Given the description of an element on the screen output the (x, y) to click on. 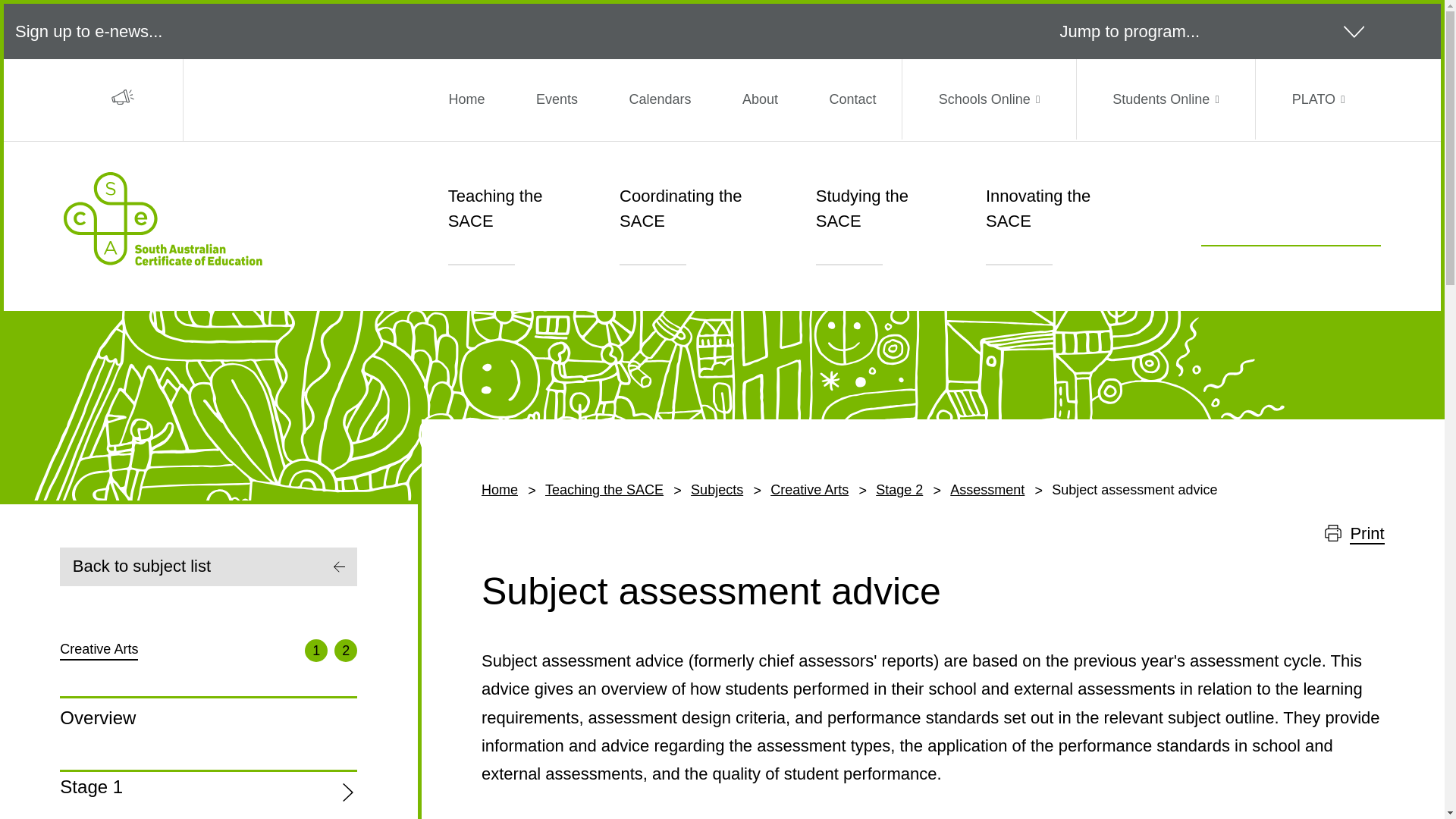
alert (122, 96)
print (1332, 532)
